Given the description of an element on the screen output the (x, y) to click on. 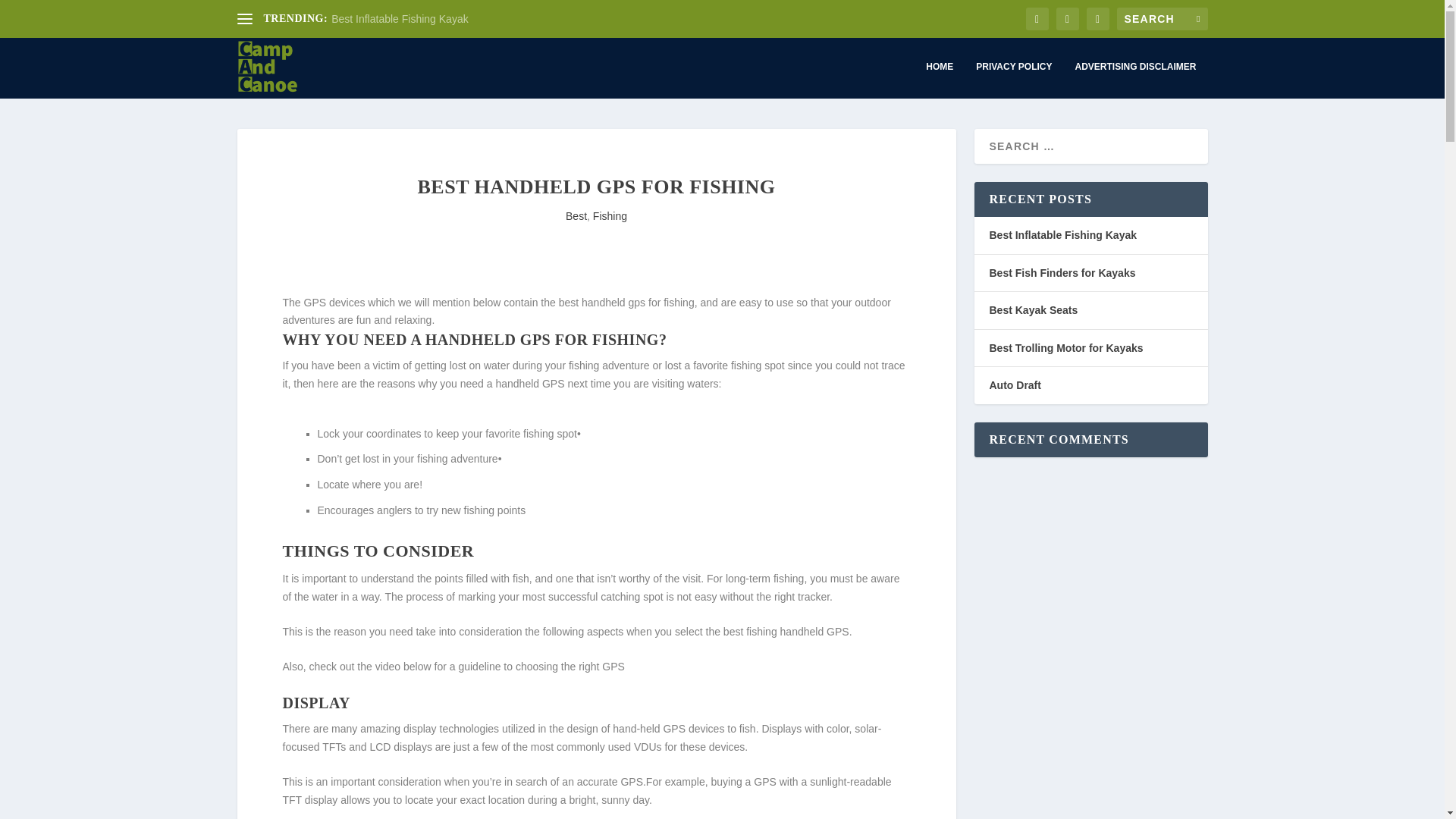
Best (576, 215)
Search for: (1161, 18)
Best Trolling Motor for Kayaks (1065, 347)
Auto Draft (1014, 385)
Fishing (609, 215)
Best Kayak Seats (1032, 309)
Best Fish Finders for Kayaks (1061, 272)
PRIVACY POLICY (1013, 79)
ADVERTISING DISCLAIMER (1134, 79)
Best Inflatable Fishing Kayak (1062, 234)
